Given the description of an element on the screen output the (x, y) to click on. 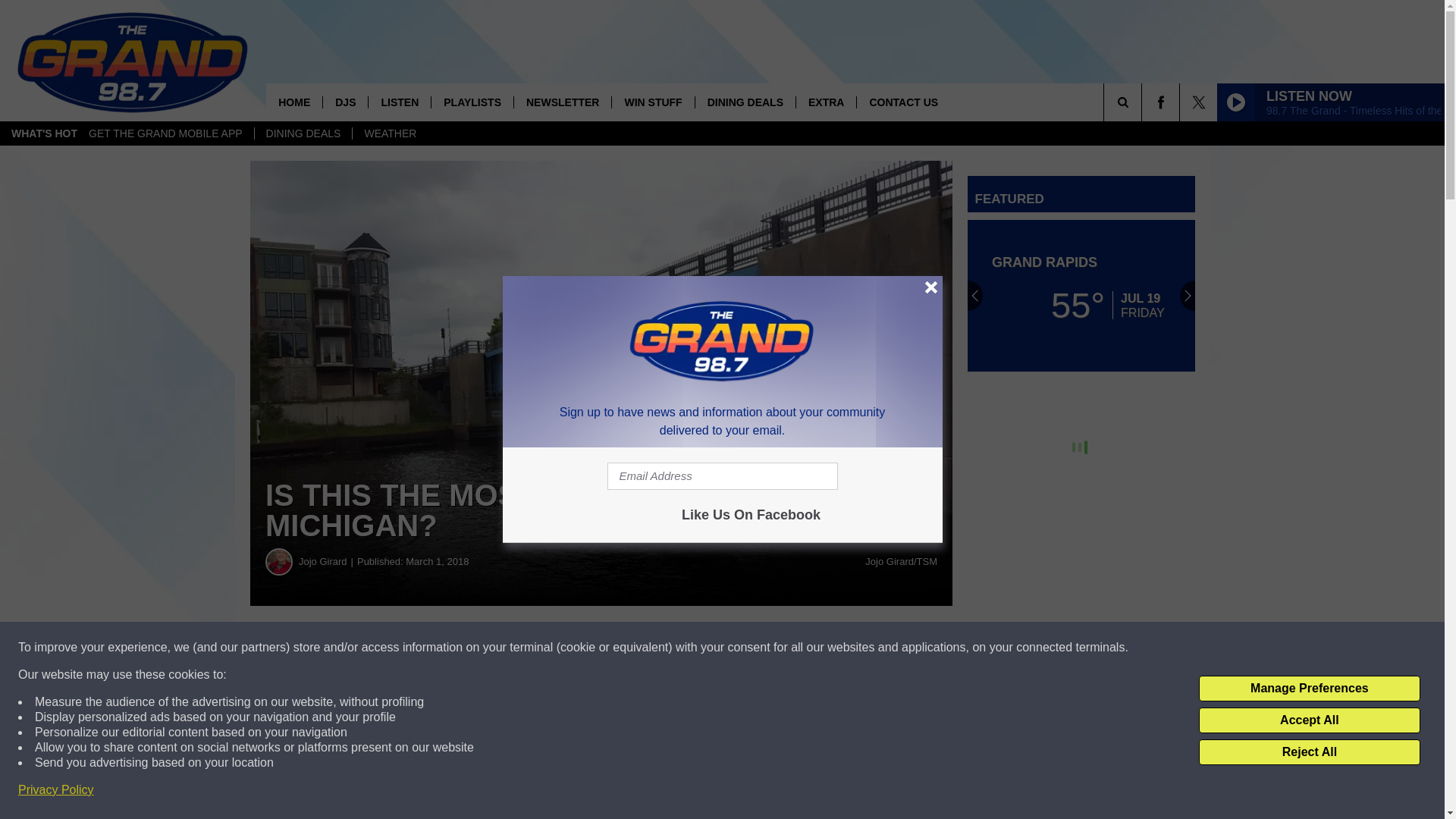
EXTRA (825, 102)
Reject All (1309, 751)
Privacy Policy (55, 789)
Share on Facebook (460, 647)
Email Address (722, 475)
HOME (293, 102)
Share on Twitter (741, 647)
Manage Preferences (1309, 688)
Grand Rapids Weather (1081, 295)
WEATHER (390, 133)
SEARCH (1144, 102)
SEARCH (1144, 102)
WIN STUFF (652, 102)
NEWSLETTER (562, 102)
DINING DEALS (744, 102)
